Given the description of an element on the screen output the (x, y) to click on. 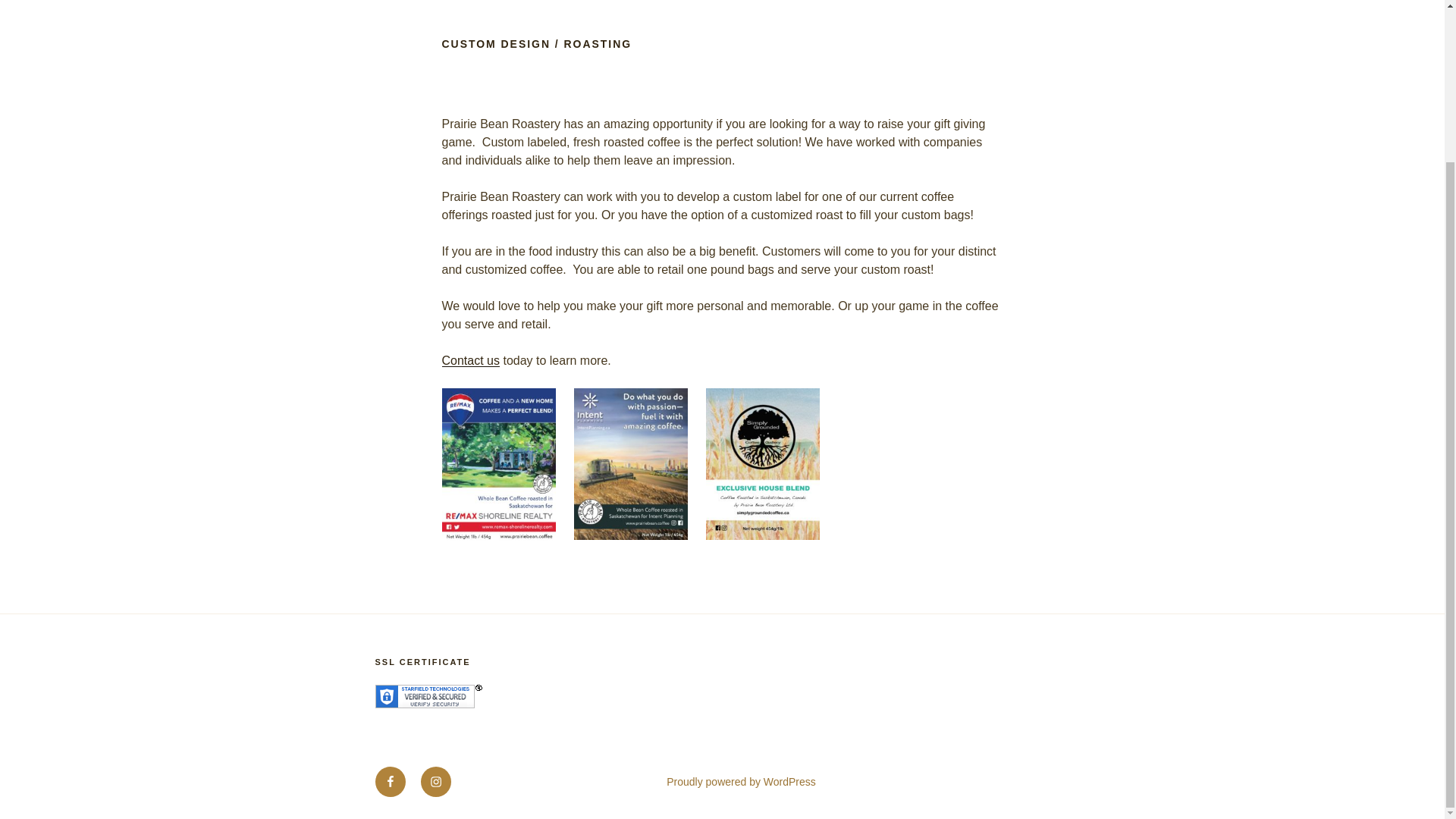
Facebook (389, 781)
Instagram (435, 781)
Contact us (470, 359)
Proudly powered by WordPress (740, 781)
